Given the description of an element on the screen output the (x, y) to click on. 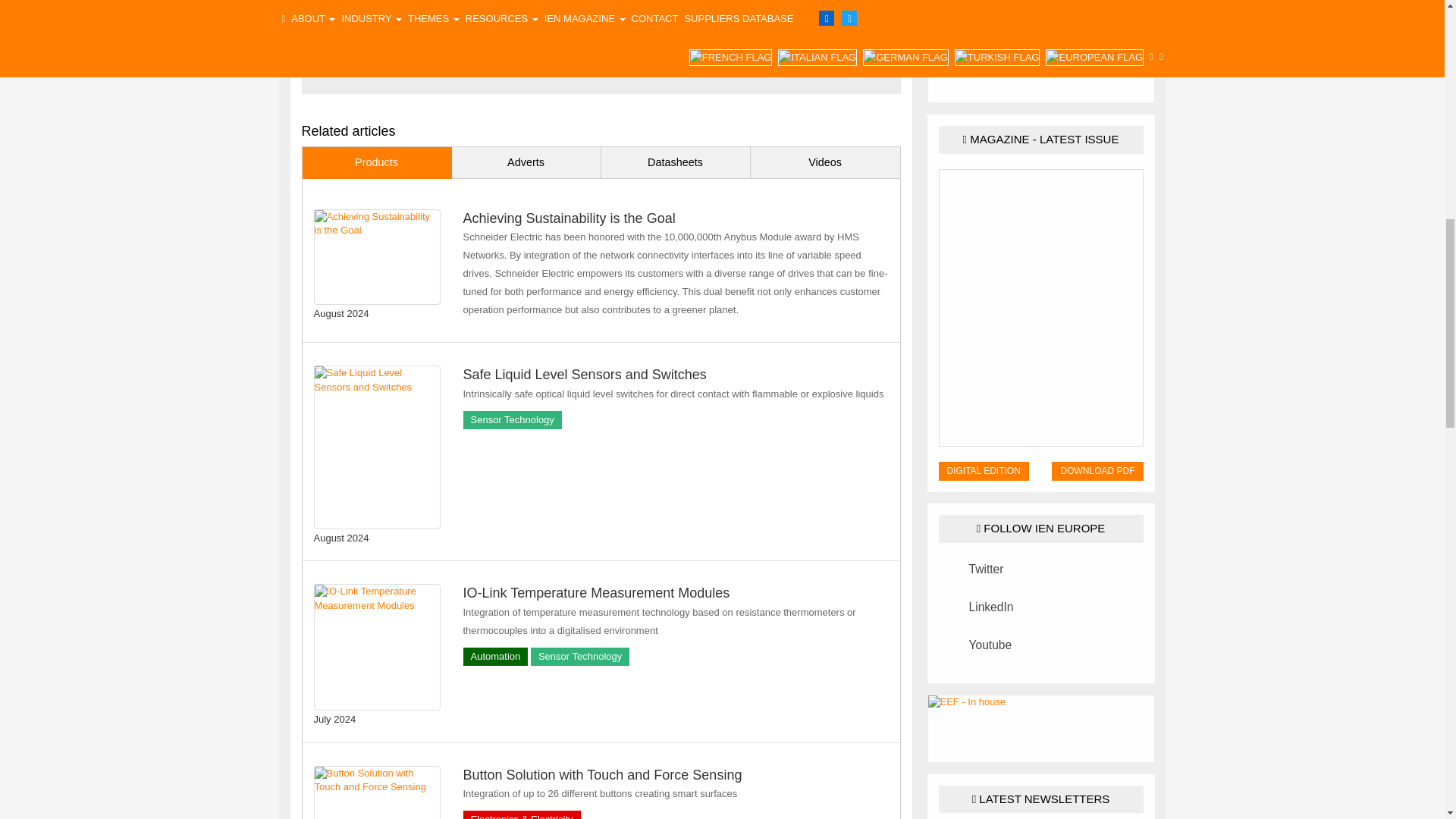
More info (919, 328)
OK (721, 356)
